Given the description of an element on the screen output the (x, y) to click on. 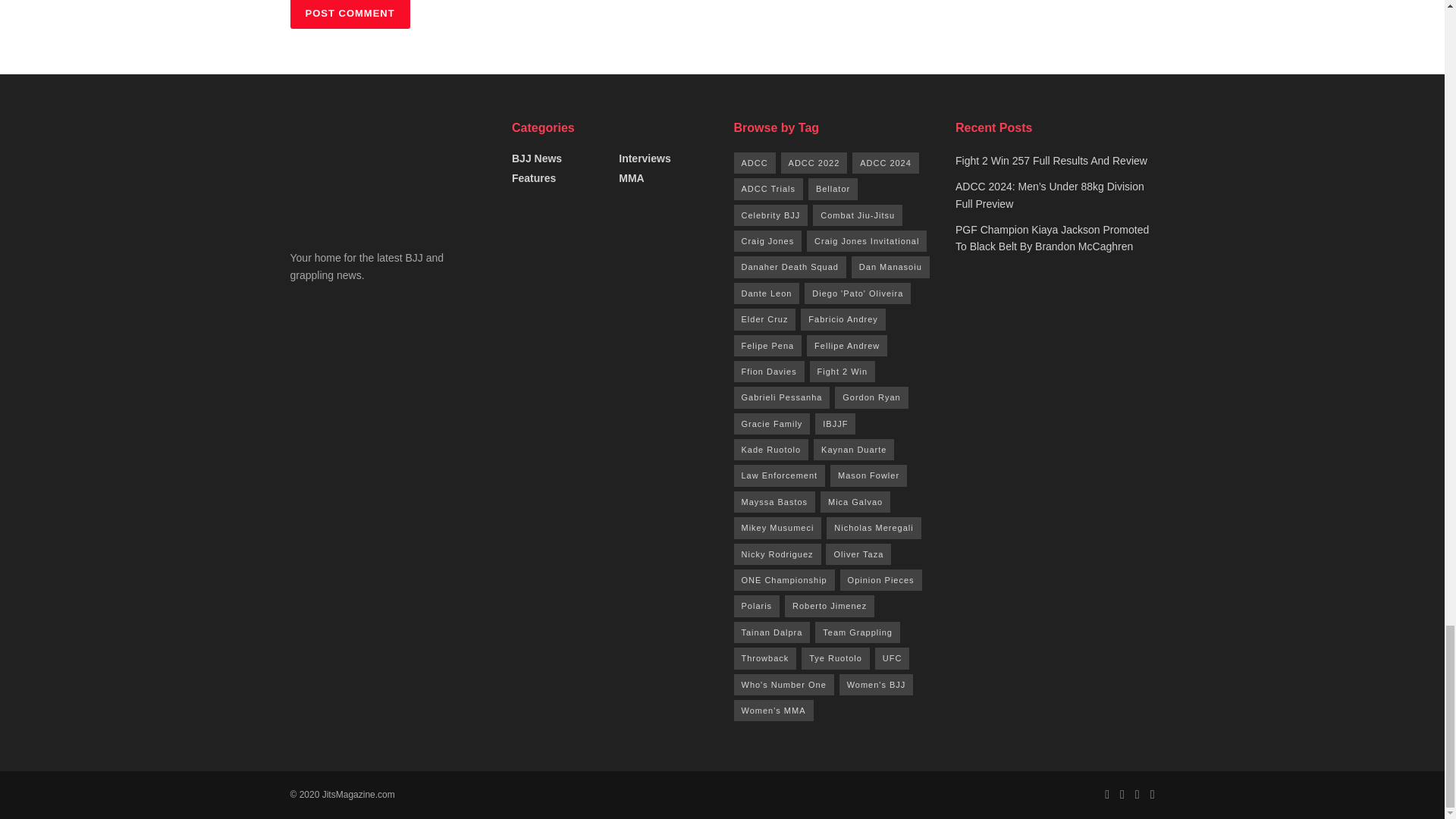
Post Comment (349, 14)
